Given the description of an element on the screen output the (x, y) to click on. 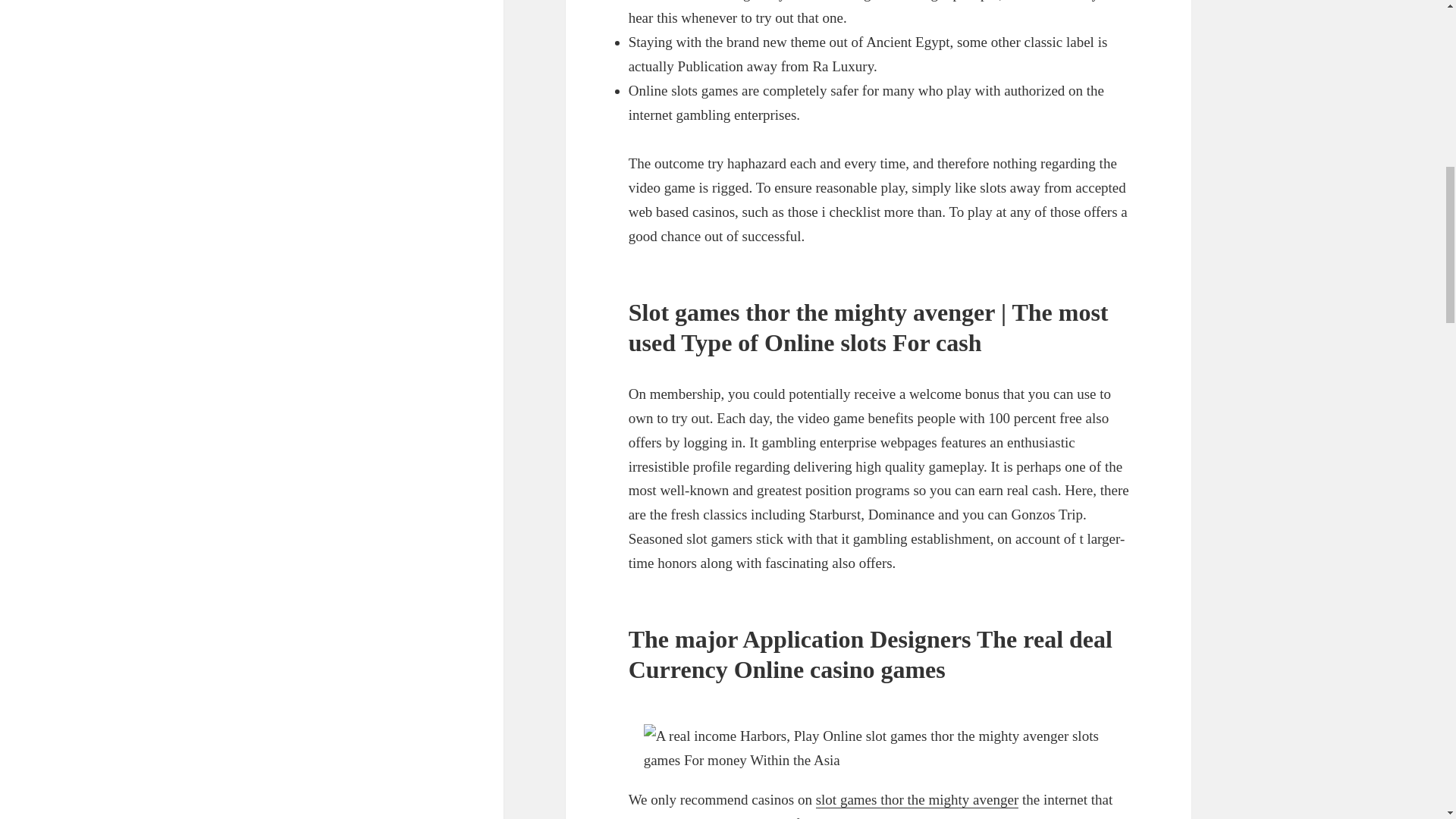
slot games thor the mighty avenger (917, 799)
